Given the description of an element on the screen output the (x, y) to click on. 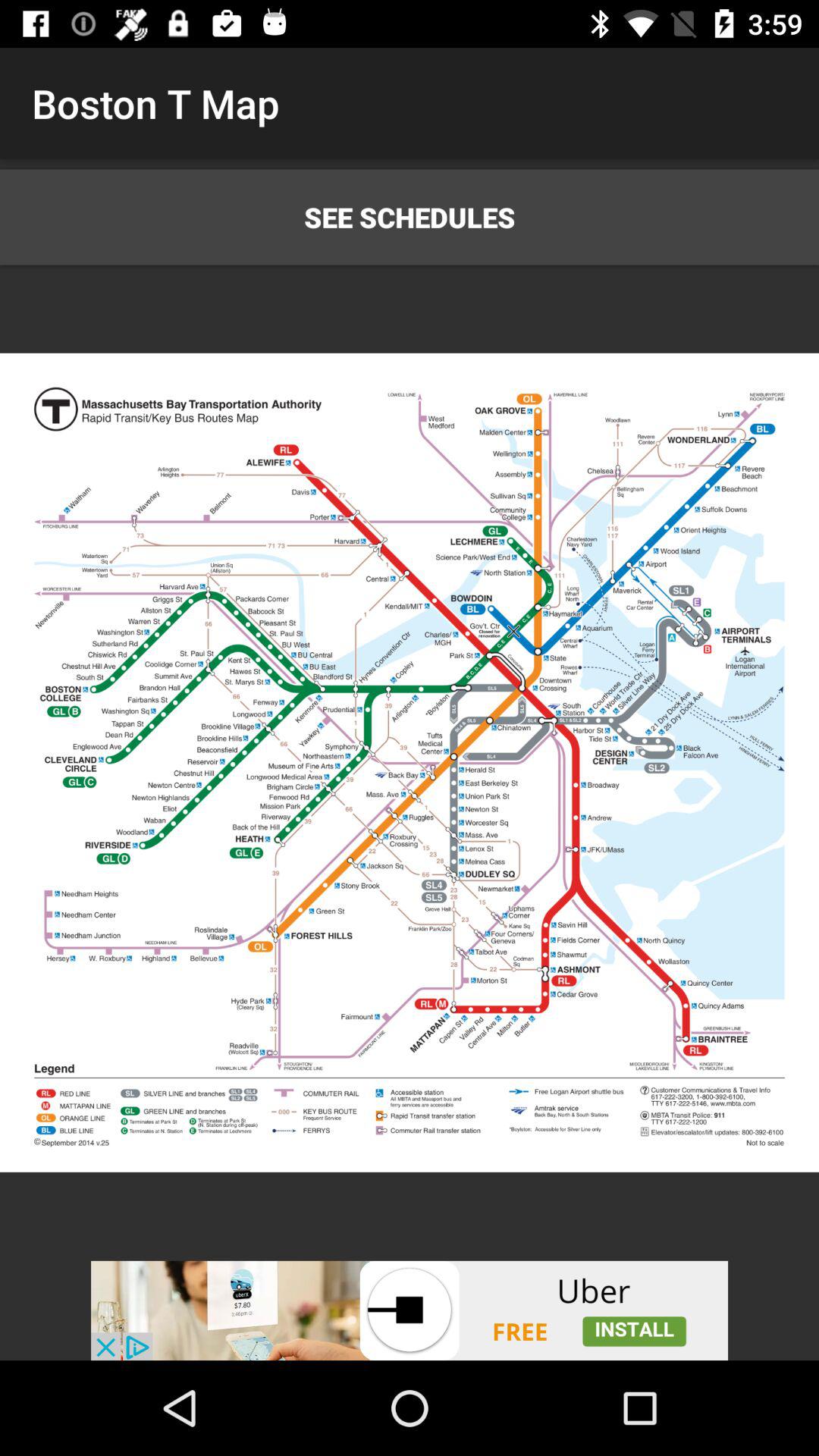
expand map image (409, 762)
